Given the description of an element on the screen output the (x, y) to click on. 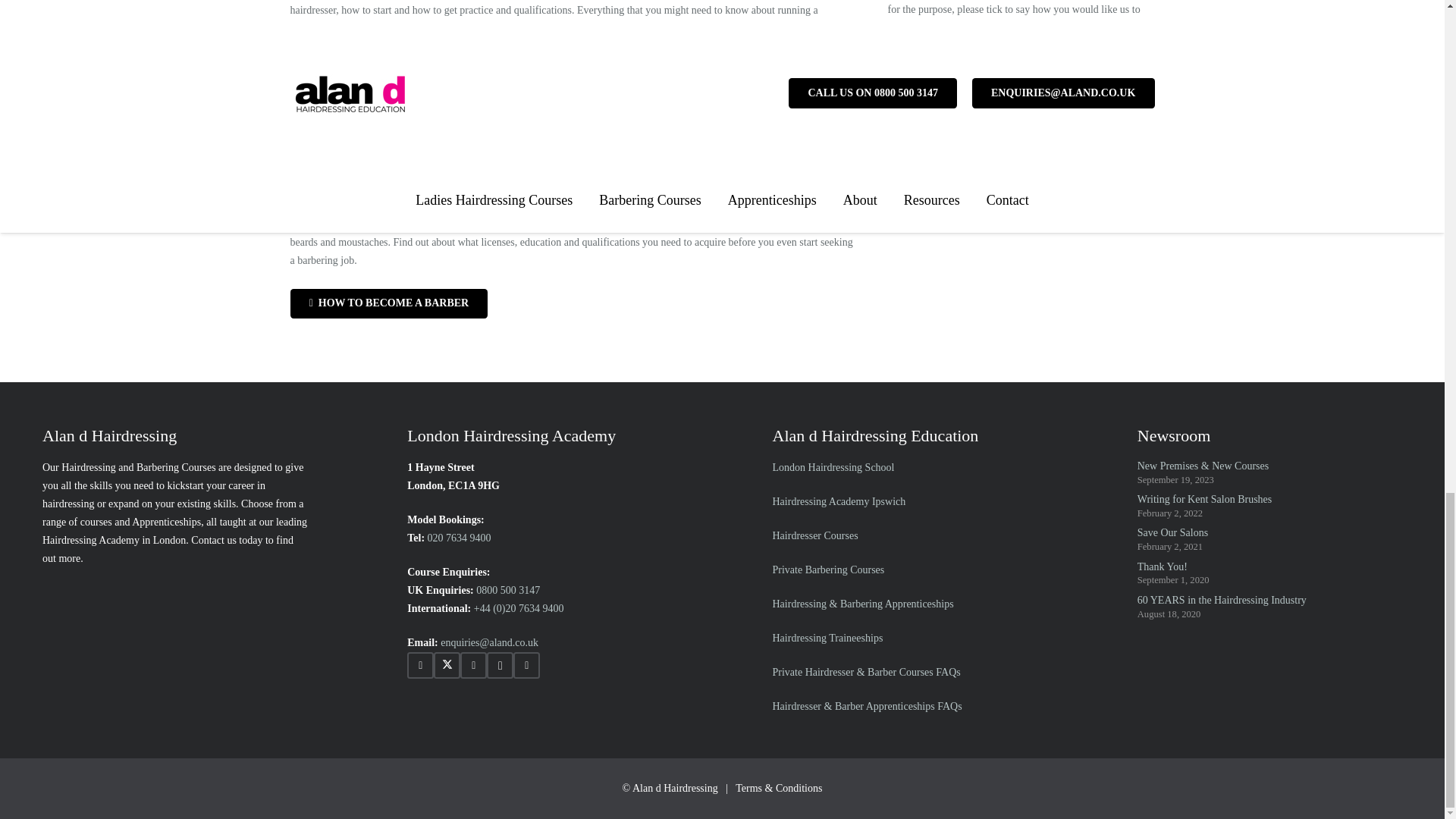
Facebook (420, 664)
Page 1 (572, 233)
Send (921, 139)
Email (892, 79)
Post (892, 61)
Page 1 (572, 18)
Telephone (892, 97)
